Given the description of an element on the screen output the (x, y) to click on. 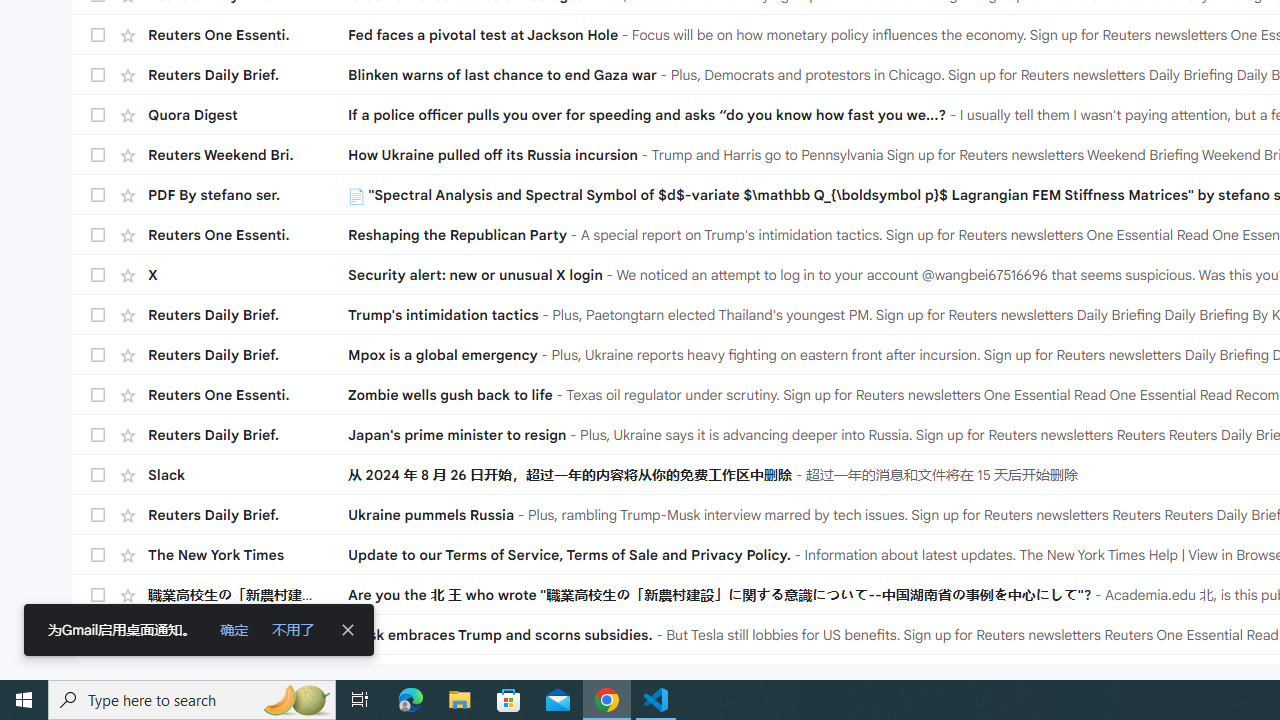
Reuters Daily Brief. (248, 514)
